Given the description of an element on the screen output the (x, y) to click on. 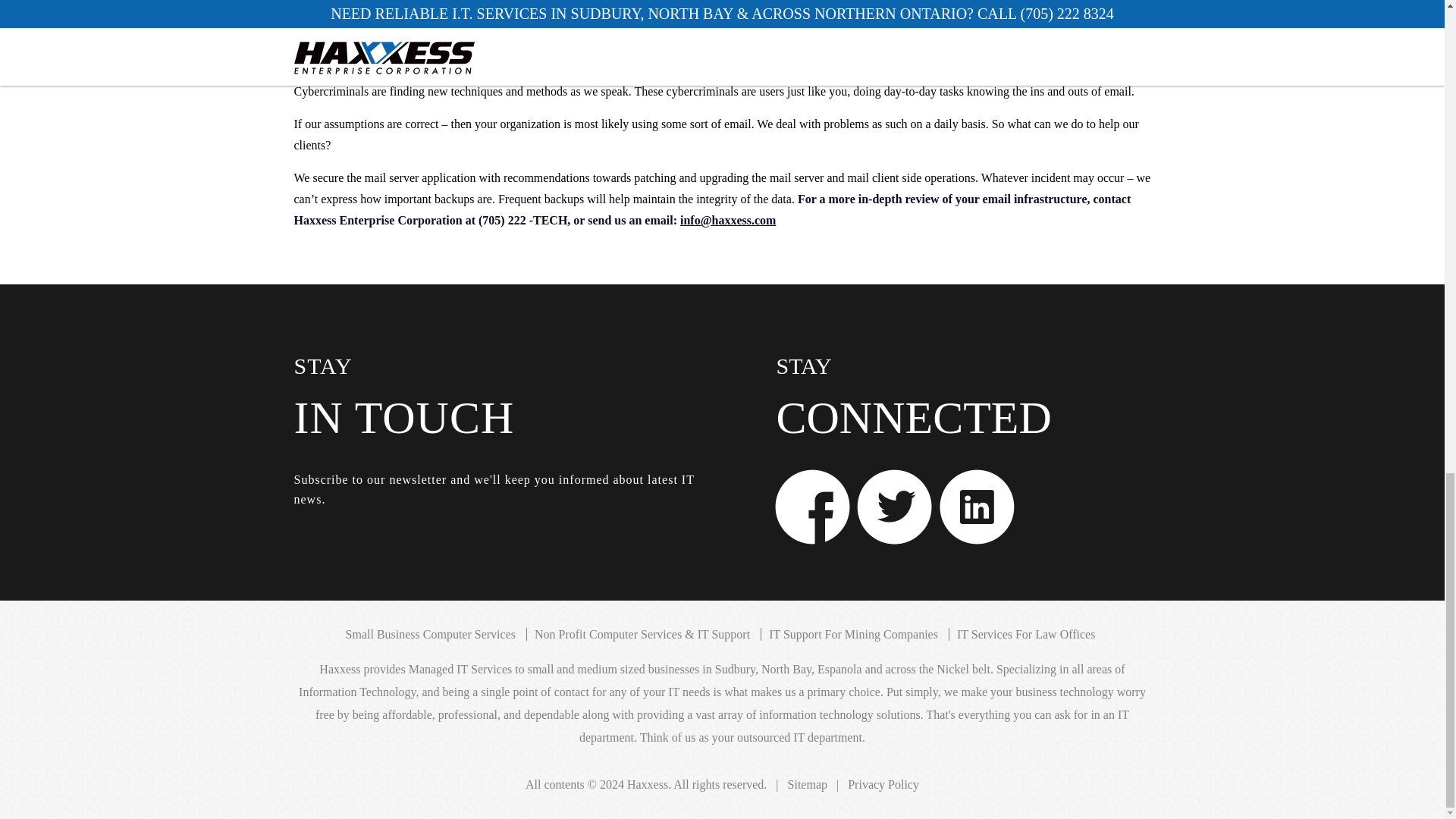
Privacy Policy (882, 784)
IT Services For Law Offices (1025, 634)
IT Support For Mining Companies (852, 634)
Small Business Computer Services (430, 634)
Sitemap (807, 784)
